Given the description of an element on the screen output the (x, y) to click on. 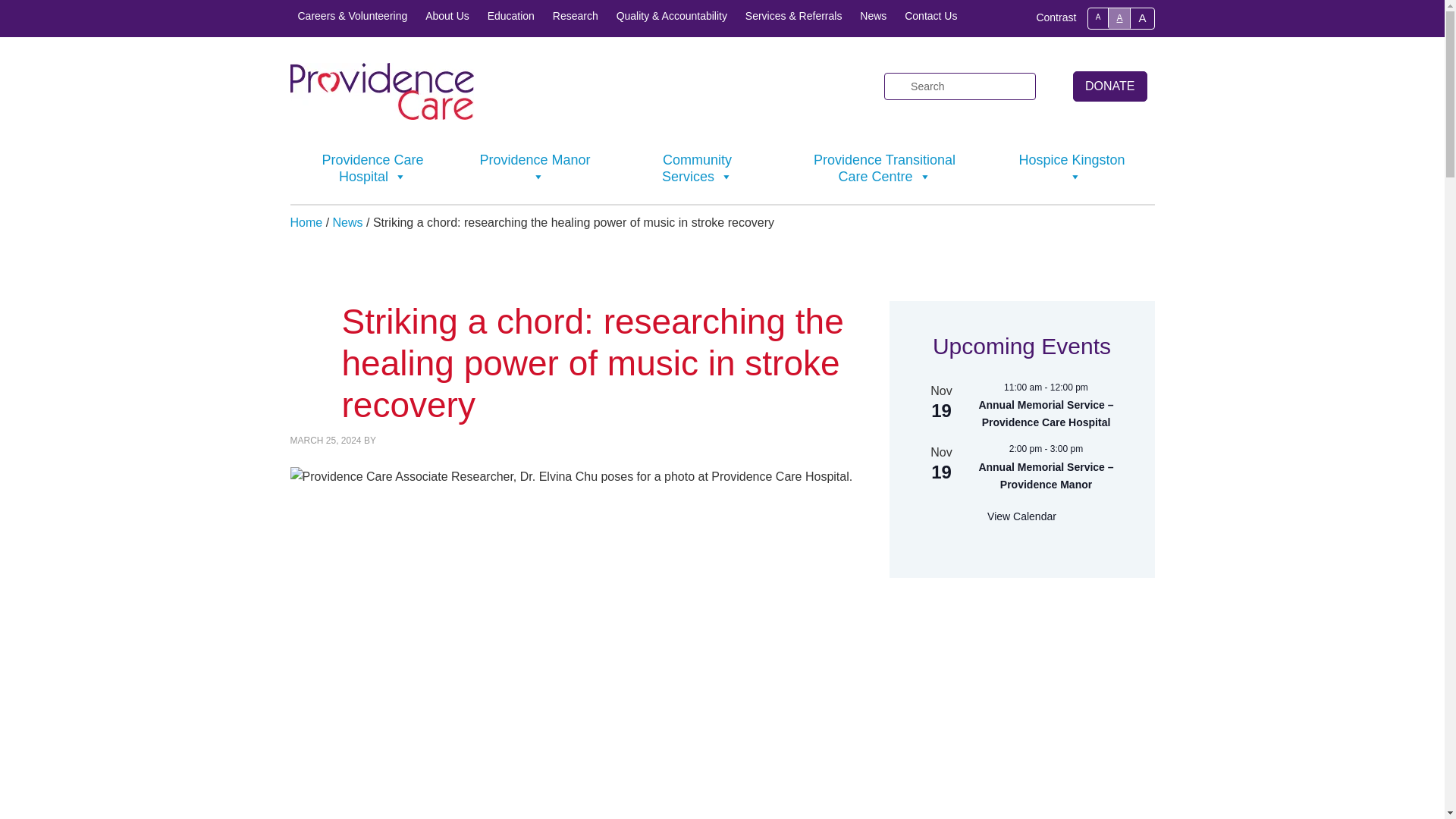
Twitter (778, 86)
Instagram (833, 86)
A (1142, 17)
Contrast (1055, 17)
Site Logo (381, 115)
News (872, 16)
A (1119, 18)
Twitter (778, 86)
Search (1053, 78)
A (1098, 17)
